Given the description of an element on the screen output the (x, y) to click on. 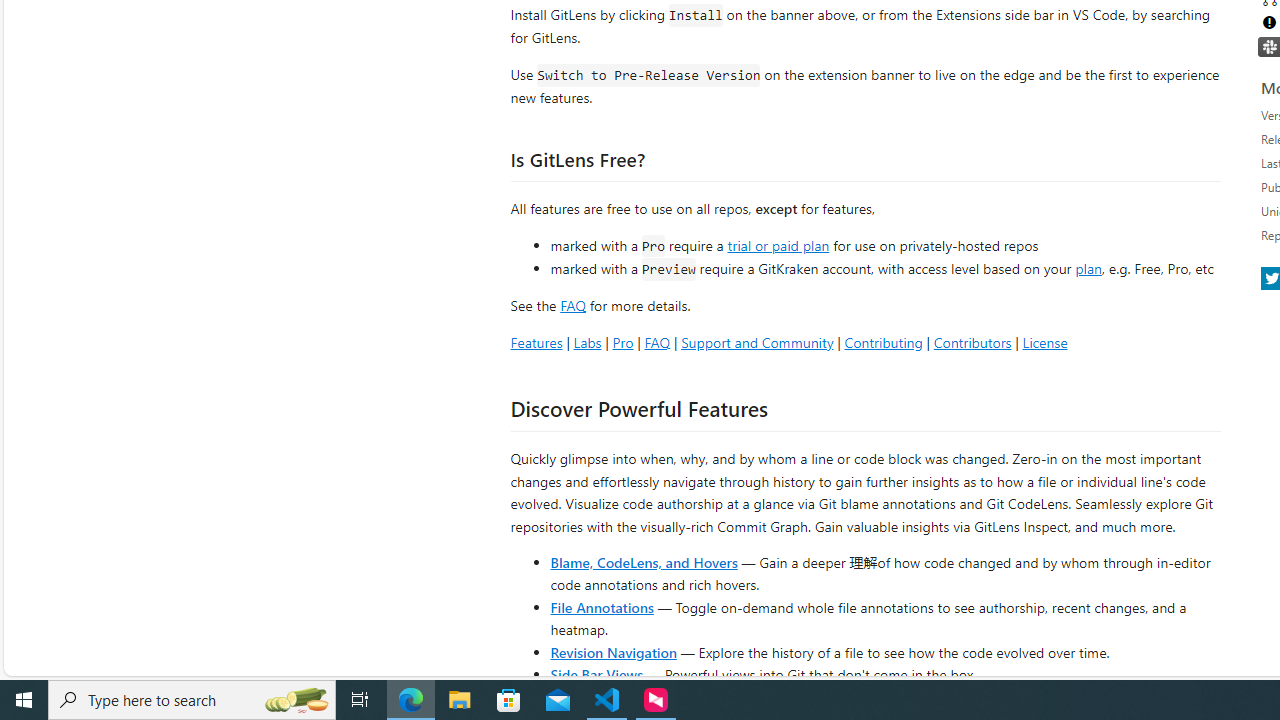
plan (1088, 269)
File Annotations (602, 606)
trial or paid plan (778, 244)
